Given the description of an element on the screen output the (x, y) to click on. 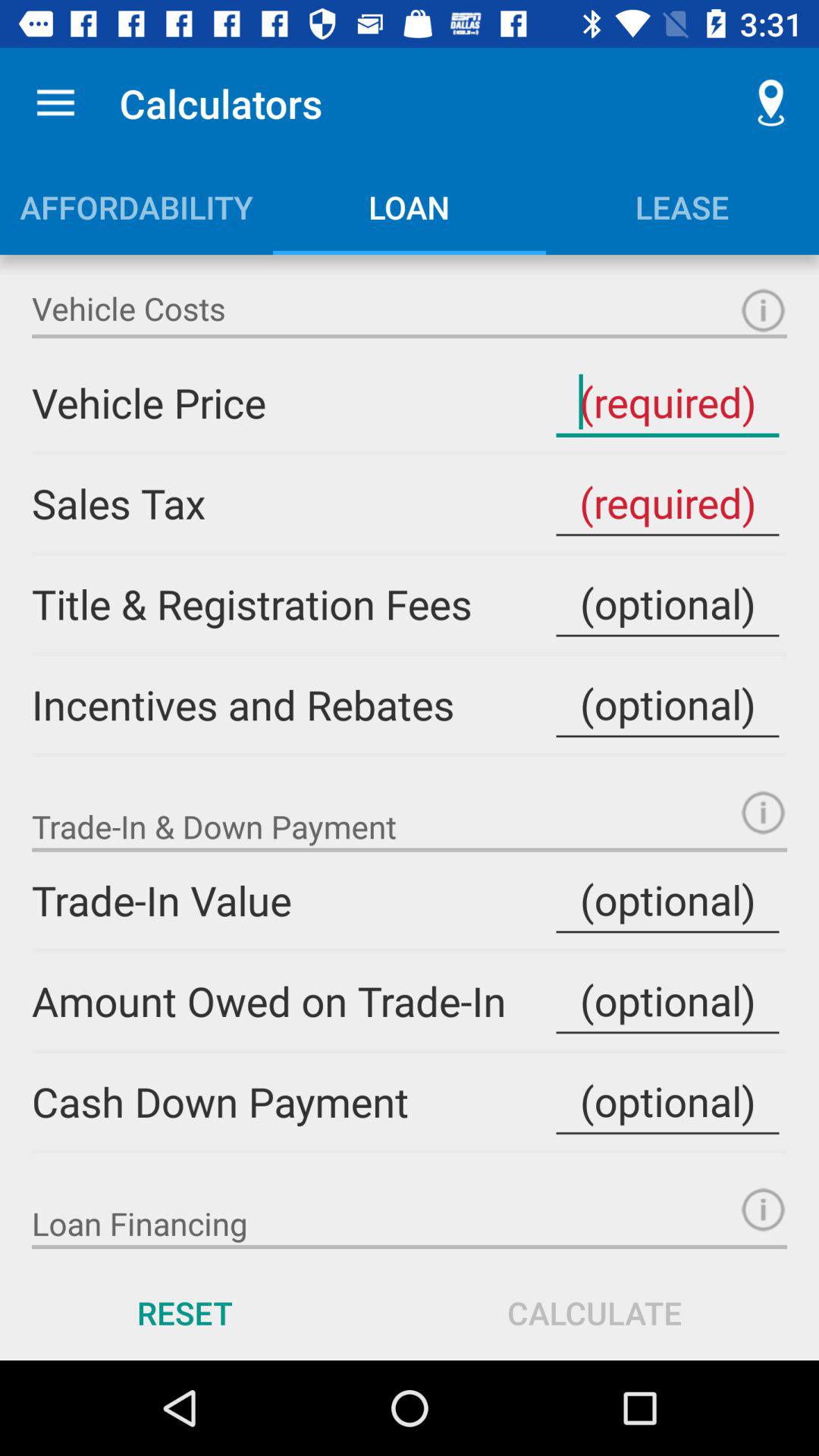
launch icon above the affordability (55, 103)
